Given the description of an element on the screen output the (x, y) to click on. 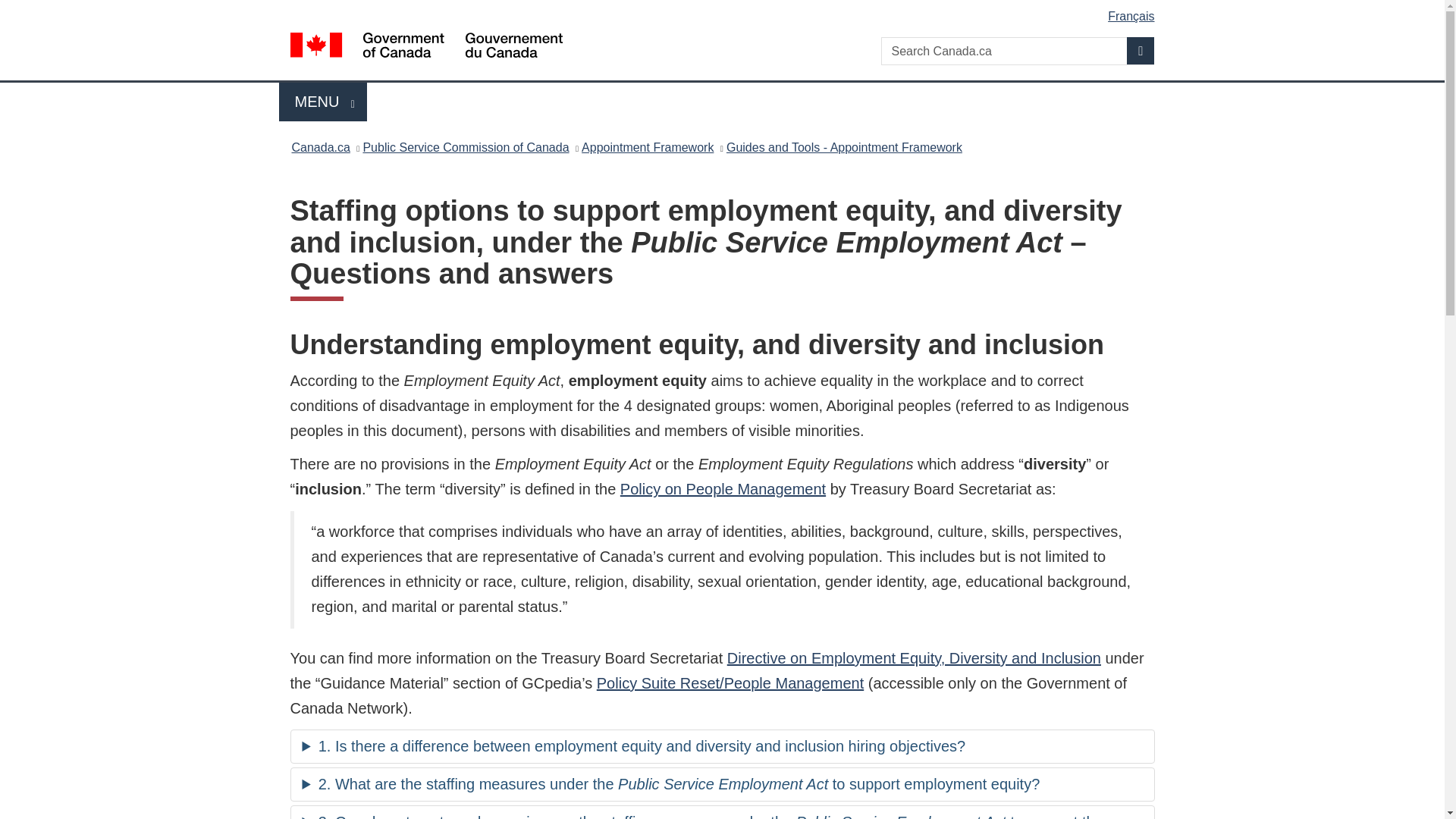
Appointment Framework (646, 147)
Policy on People Management (722, 488)
Guides and Tools - Appointment Framework (844, 147)
Skip to main content (725, 11)
Public Service Commission of Canada (465, 147)
Directive on Employment Equity, Diversity and Inclusion (322, 101)
Search (913, 658)
Canada.ca (1140, 50)
